Given the description of an element on the screen output the (x, y) to click on. 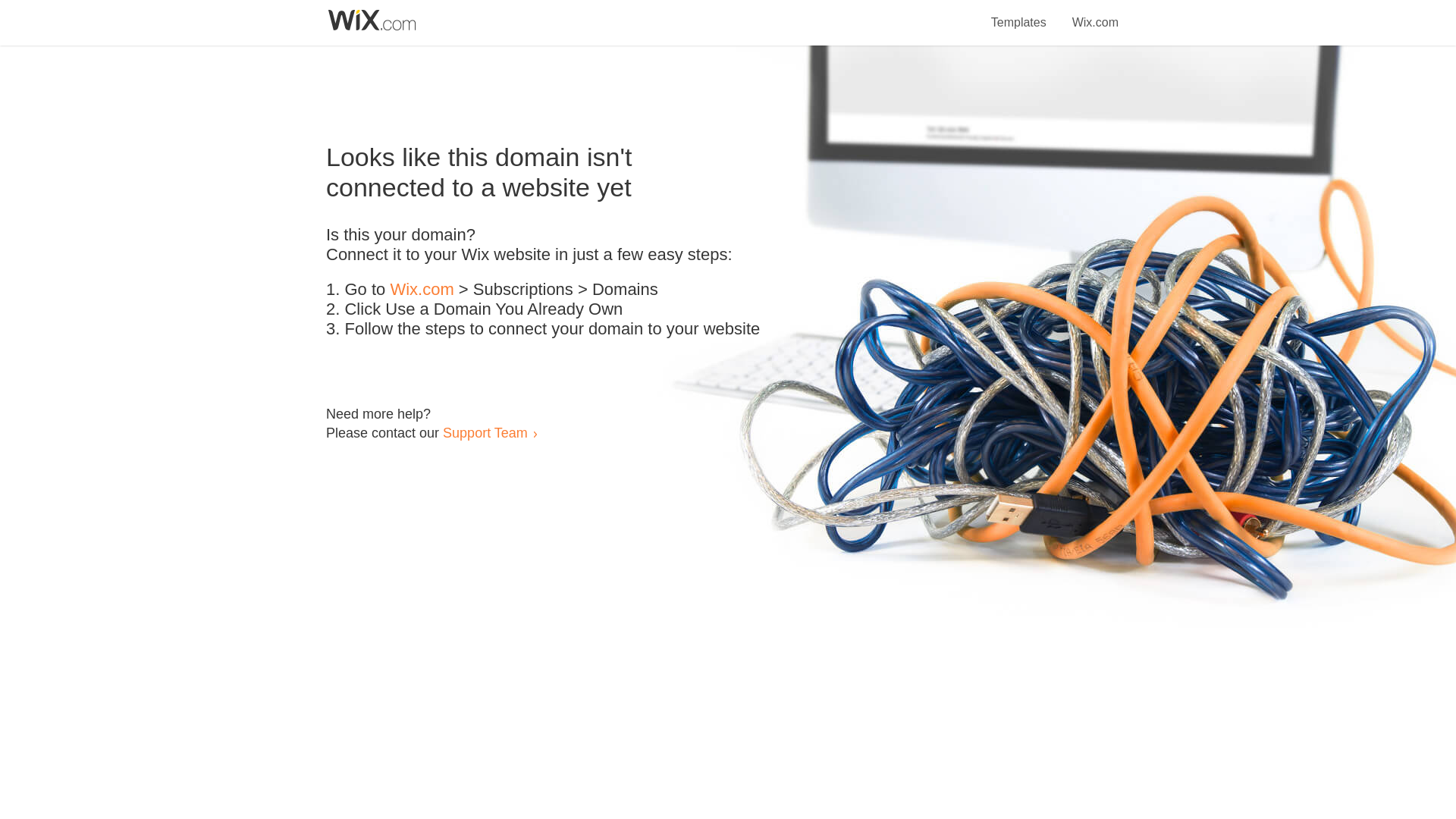
Wix.com (421, 289)
Support Team (484, 432)
Templates (1018, 14)
Wix.com (1095, 14)
